Given the description of an element on the screen output the (x, y) to click on. 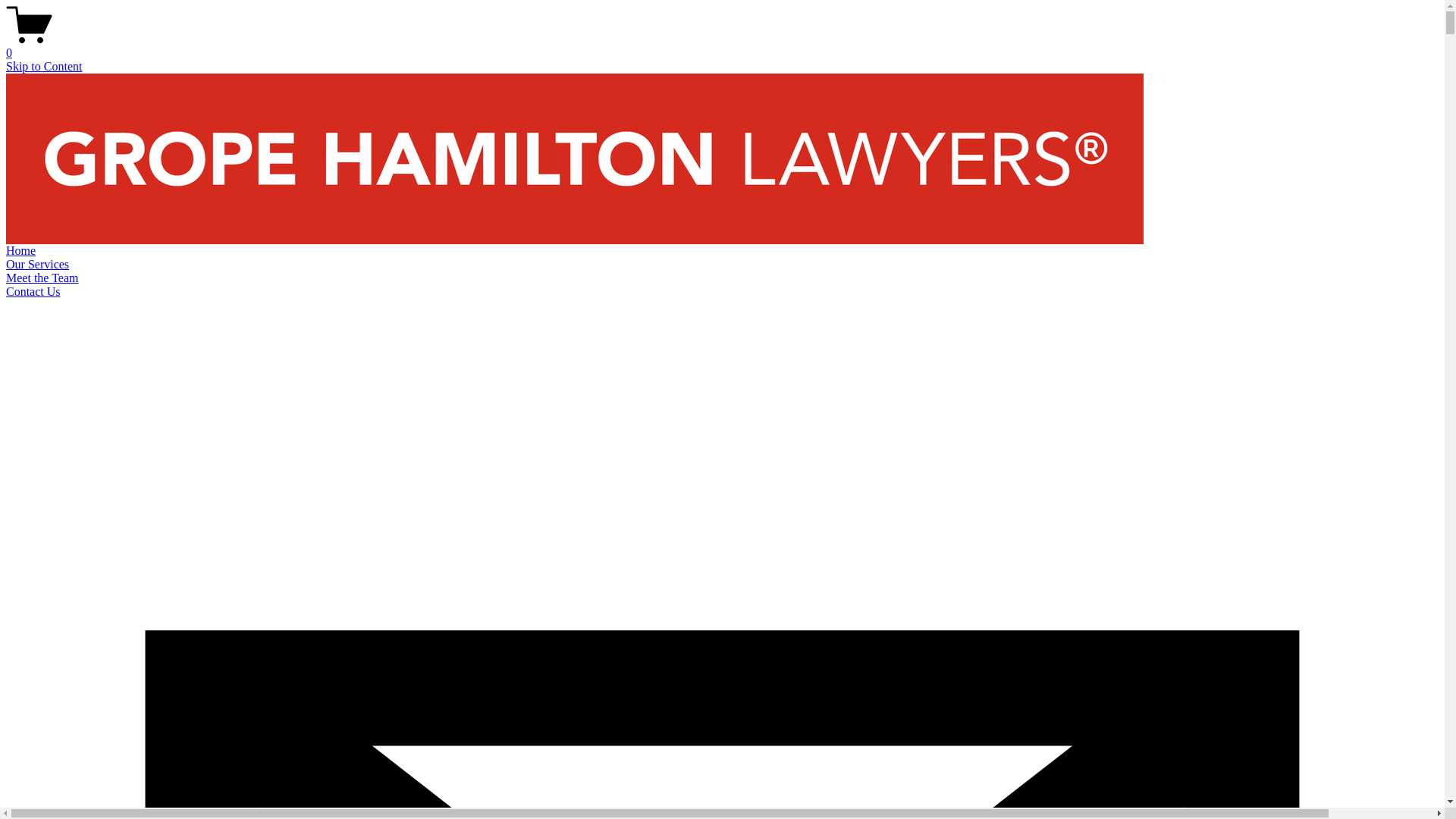
Home Element type: text (20, 250)
Skip to Content Element type: text (43, 65)
Our Services Element type: text (37, 263)
Contact Us Element type: text (33, 291)
0 Element type: text (722, 45)
Meet the Team Element type: text (42, 277)
